Given the description of an element on the screen output the (x, y) to click on. 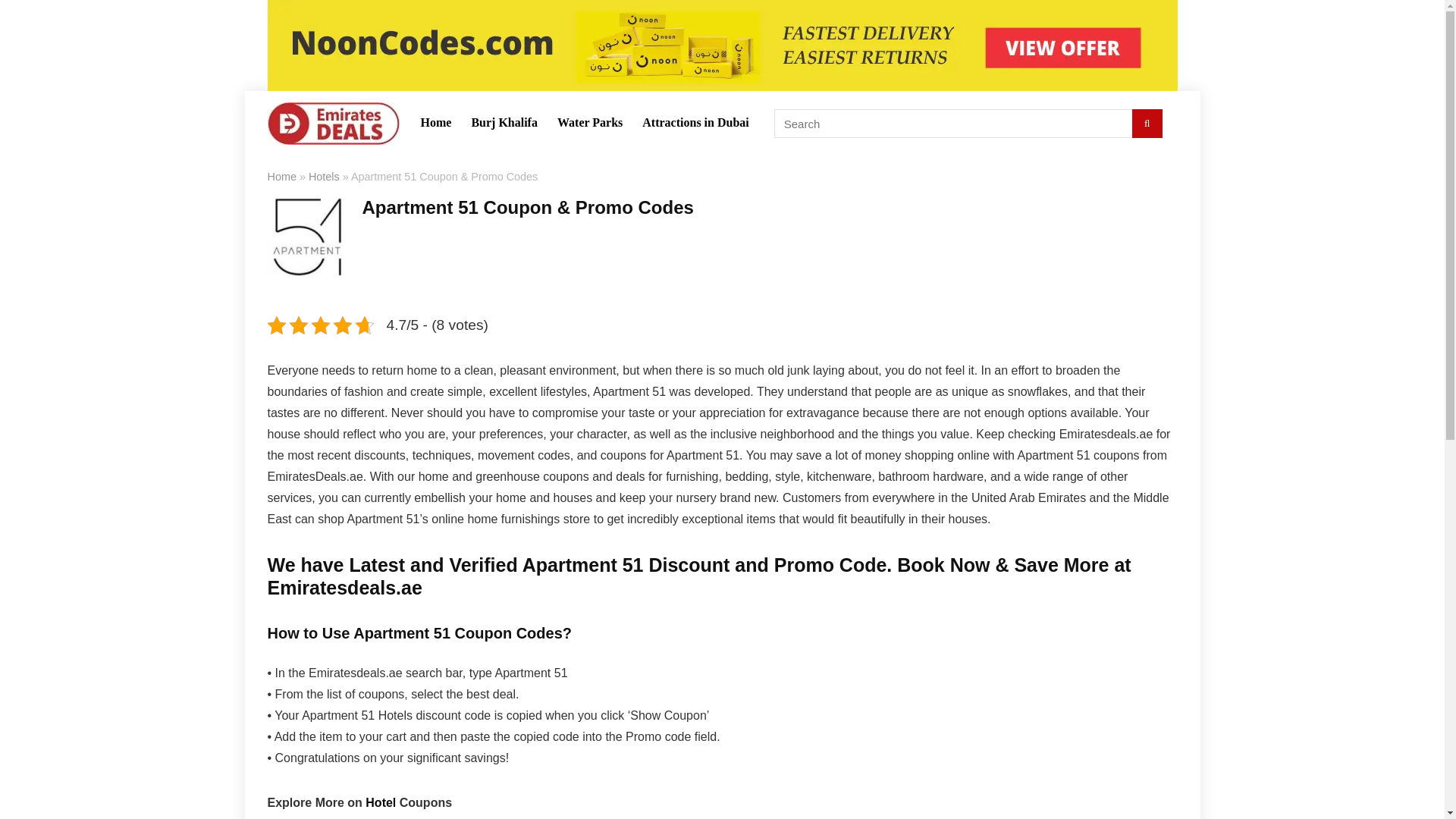
DAMAC (818, 818)
JA Resorts (595, 818)
Berjaya (870, 818)
Burj Khalifa (504, 123)
Attractions in Dubai (694, 123)
Millennium (297, 818)
Home (280, 176)
Al Khoory (759, 818)
Anantara (660, 818)
Home (435, 123)
